Given the description of an element on the screen output the (x, y) to click on. 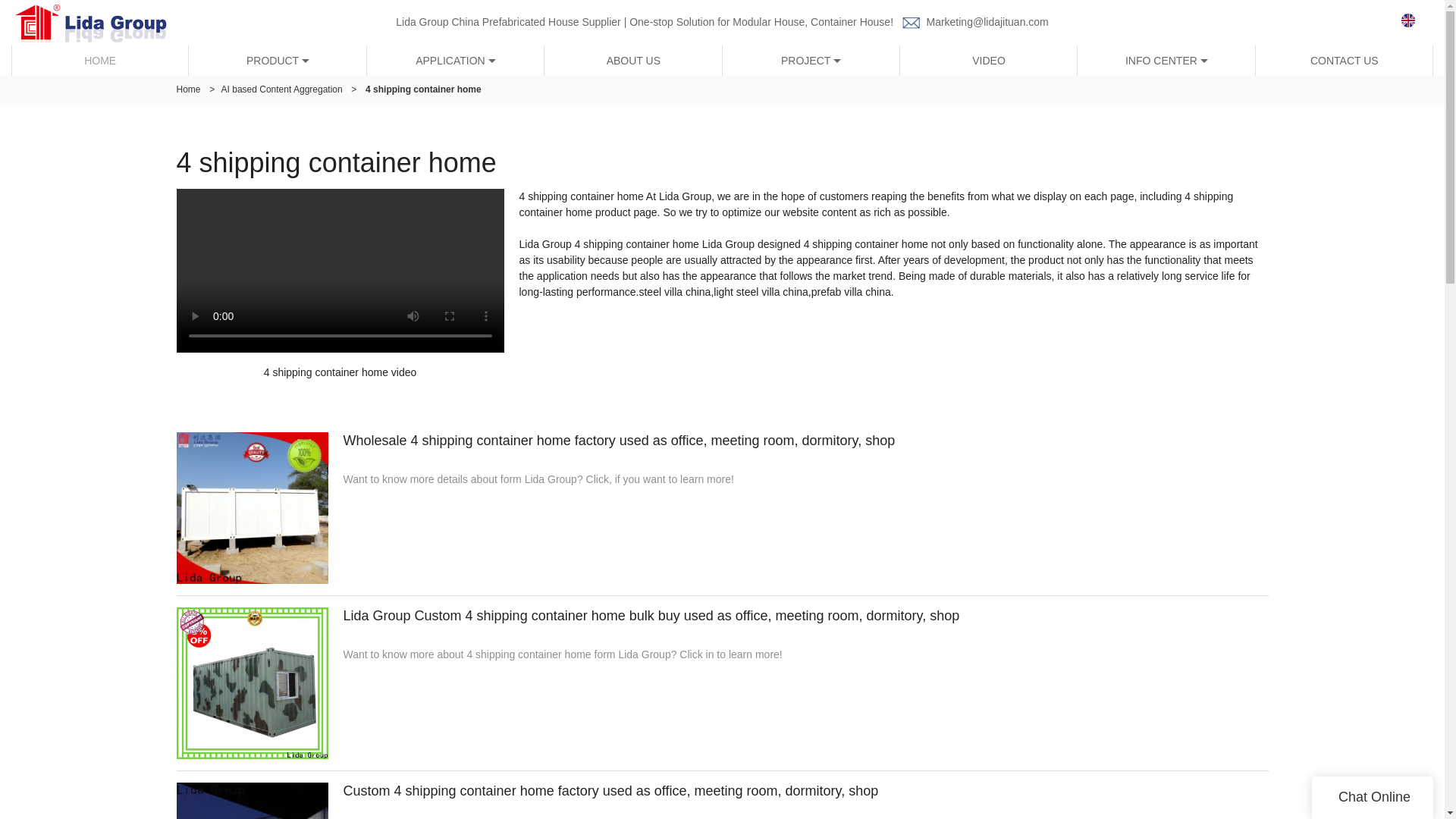
APPLICATION (455, 60)
PRODUCT (277, 60)
HOME (100, 60)
